Given the description of an element on the screen output the (x, y) to click on. 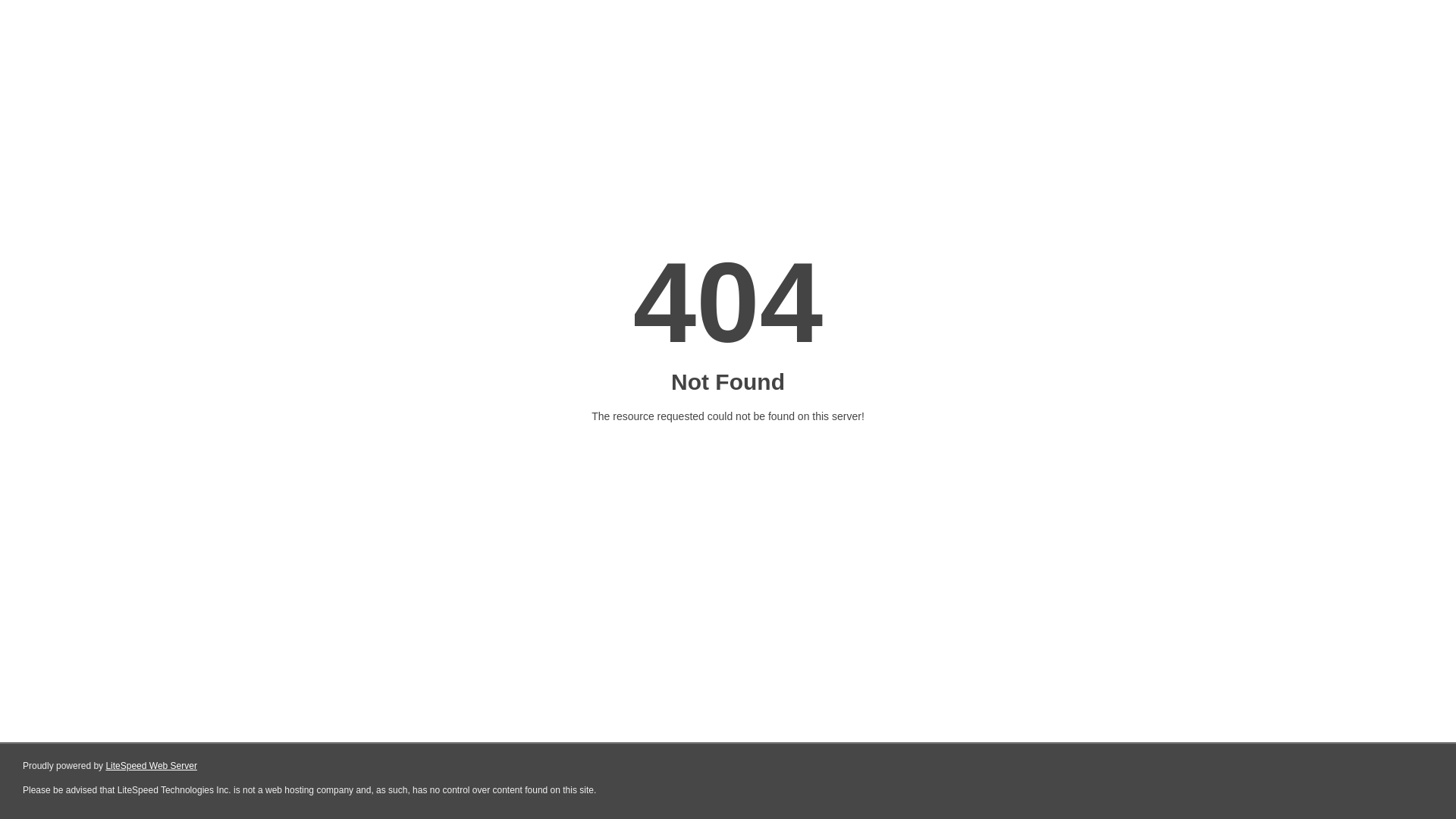
LiteSpeed Web Server Element type: text (151, 765)
